Given the description of an element on the screen output the (x, y) to click on. 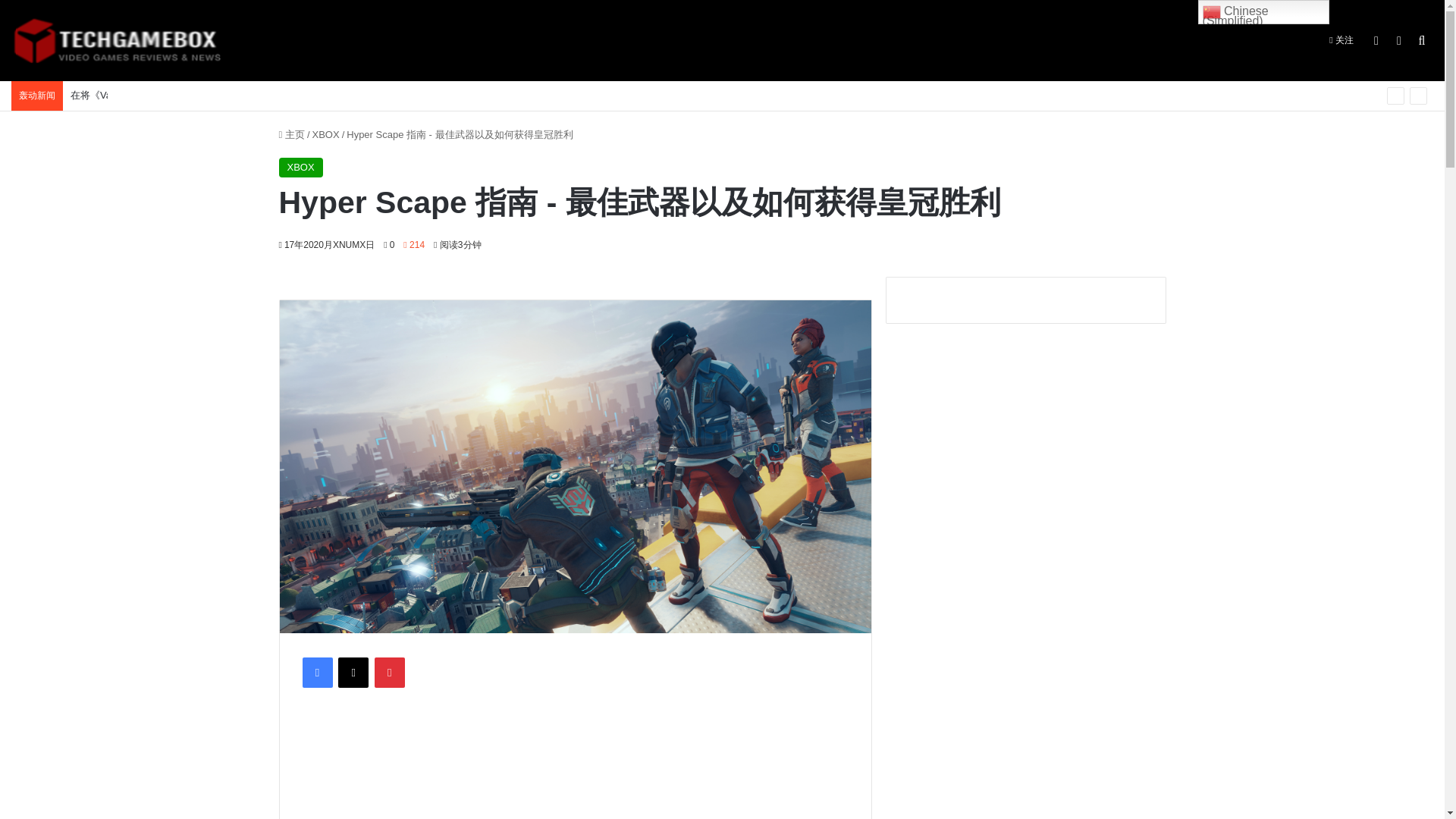
XBOX (301, 167)
X (352, 672)
XBOX (326, 134)
Pinterest (389, 672)
Facebook (316, 672)
Pinterest (389, 672)
X (352, 672)
Advertisement (589, 764)
Facebook (316, 672)
